Given the description of an element on the screen output the (x, y) to click on. 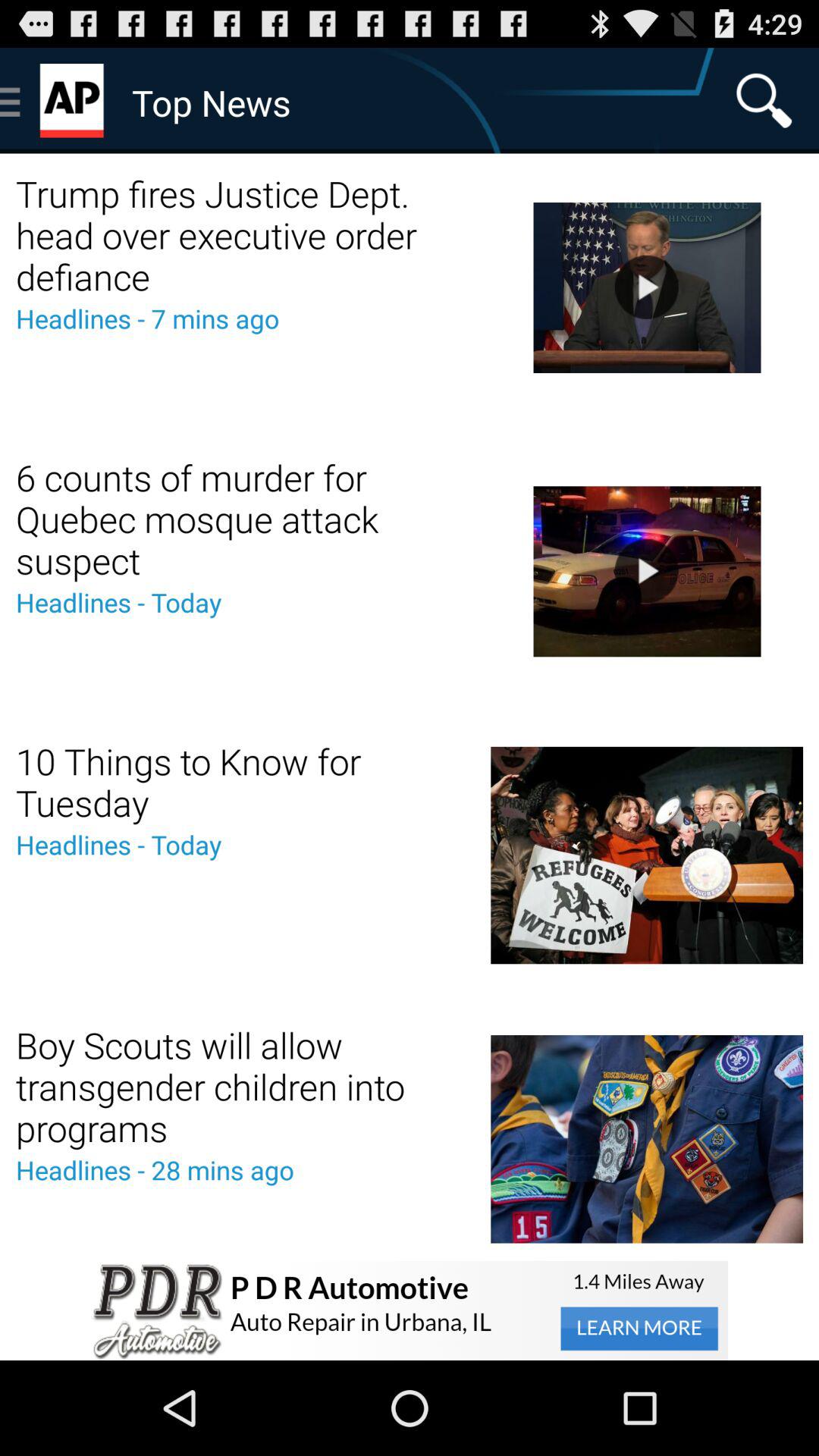
advertisement (409, 1310)
